Given the description of an element on the screen output the (x, y) to click on. 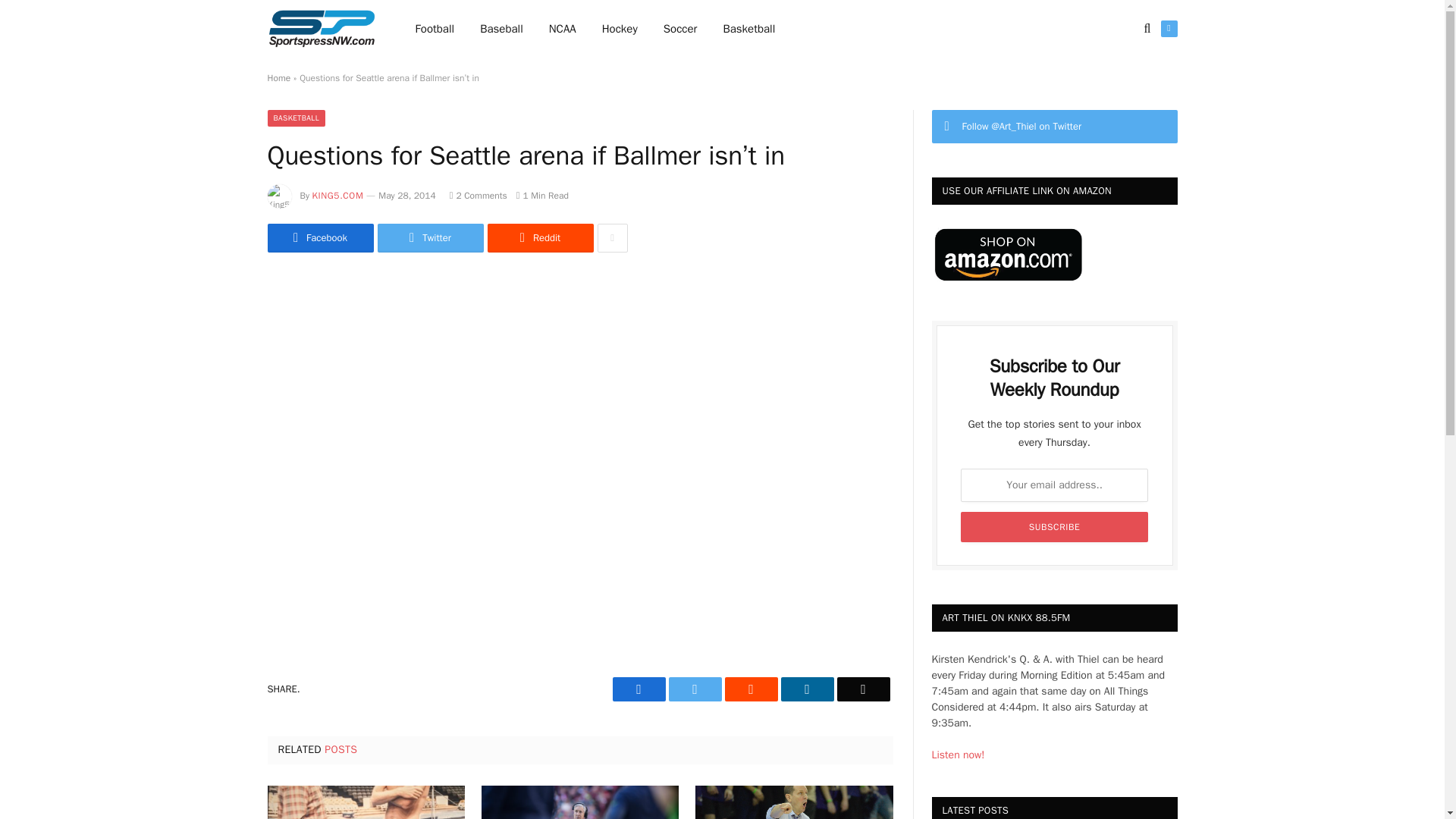
Share on Twitter (319, 237)
Baseball (501, 28)
2 Comments (477, 195)
Home (277, 78)
Reddit (751, 689)
LinkedIn (807, 689)
Facebook (319, 237)
NCAA (562, 28)
Posts by King5.com (338, 195)
Football (435, 28)
Twitter (695, 689)
Sportspress Northwest (320, 28)
Twitter (430, 237)
Soccer (680, 28)
Hockey (619, 28)
